Given the description of an element on the screen output the (x, y) to click on. 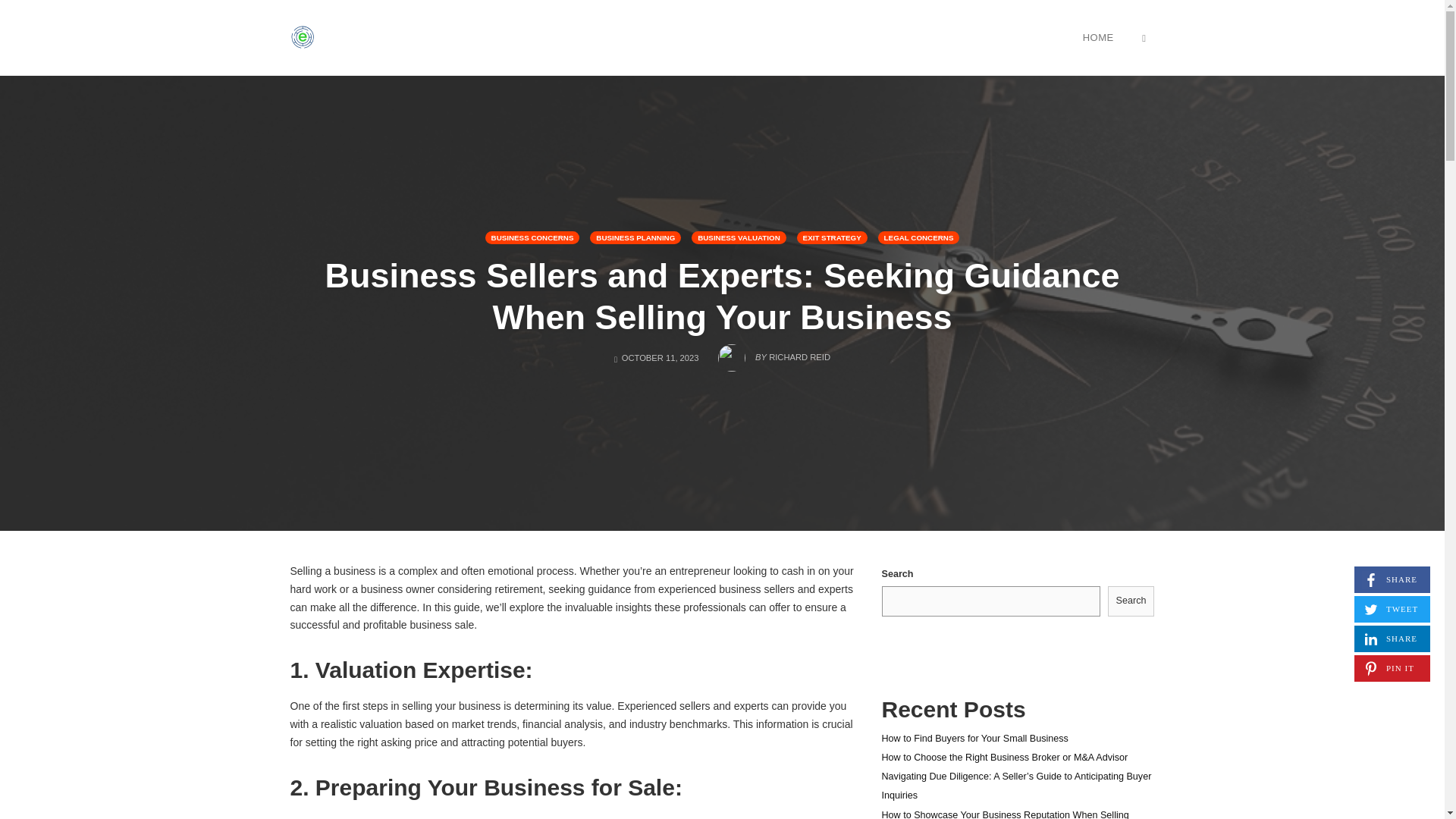
LEGAL CONCERNS (1391, 638)
EXIT STRATEGY (918, 237)
BUSINESS PLANNING (1391, 579)
OPEN SEARCH FORM (831, 237)
BUSINESS CONCERNS (635, 237)
sellmybusiness-io (1144, 37)
HOME (531, 237)
